Given the description of an element on the screen output the (x, y) to click on. 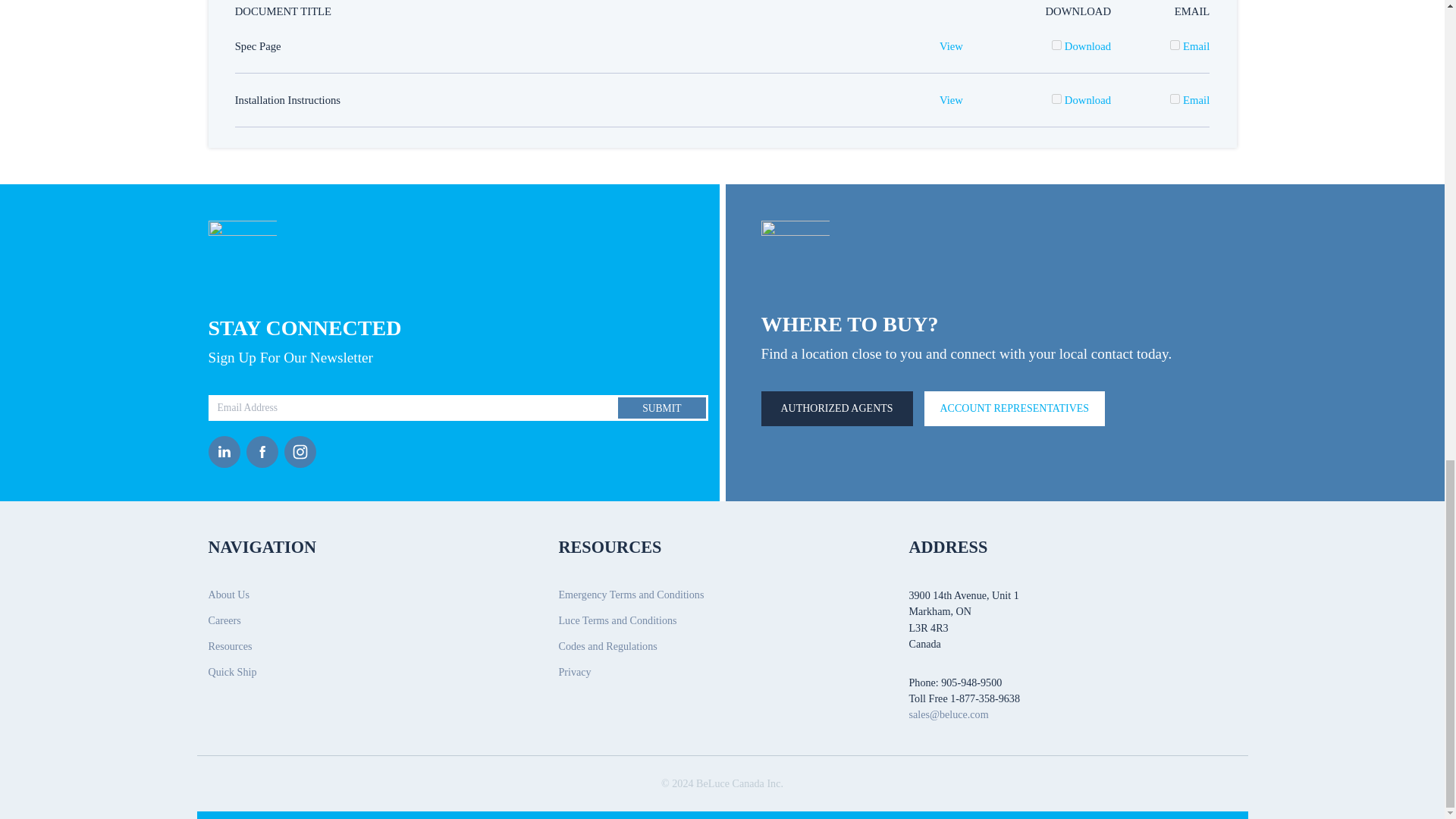
on (1174, 44)
Instagram (302, 451)
on (1056, 44)
LinkedIn (227, 451)
on (1174, 99)
on (1056, 99)
cart-icon (795, 252)
Submit (660, 408)
Facebook (264, 451)
letter-icon (242, 254)
